Given the description of an element on the screen output the (x, y) to click on. 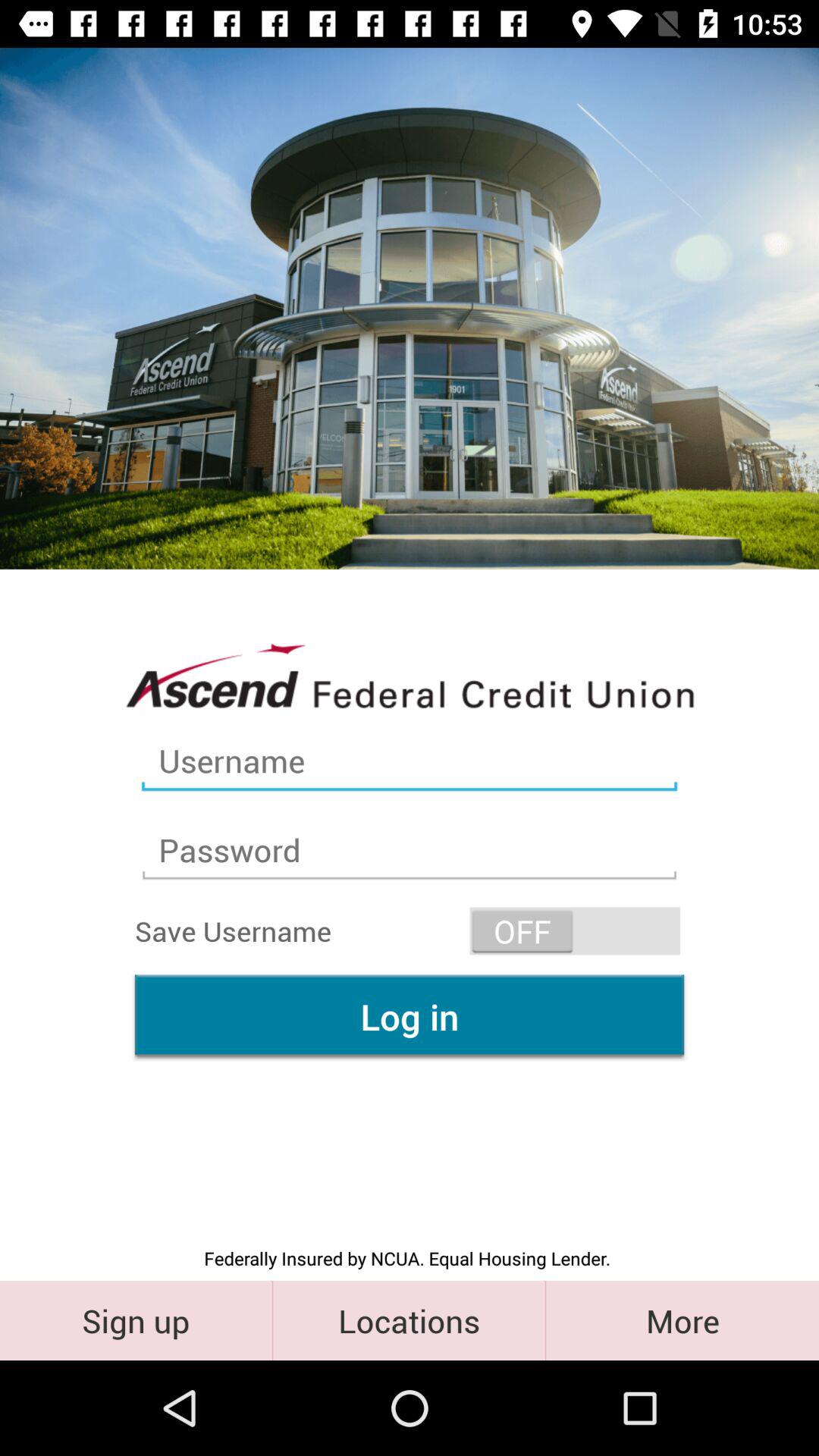
tap the icon to the right of the locations (682, 1320)
